Given the description of an element on the screen output the (x, y) to click on. 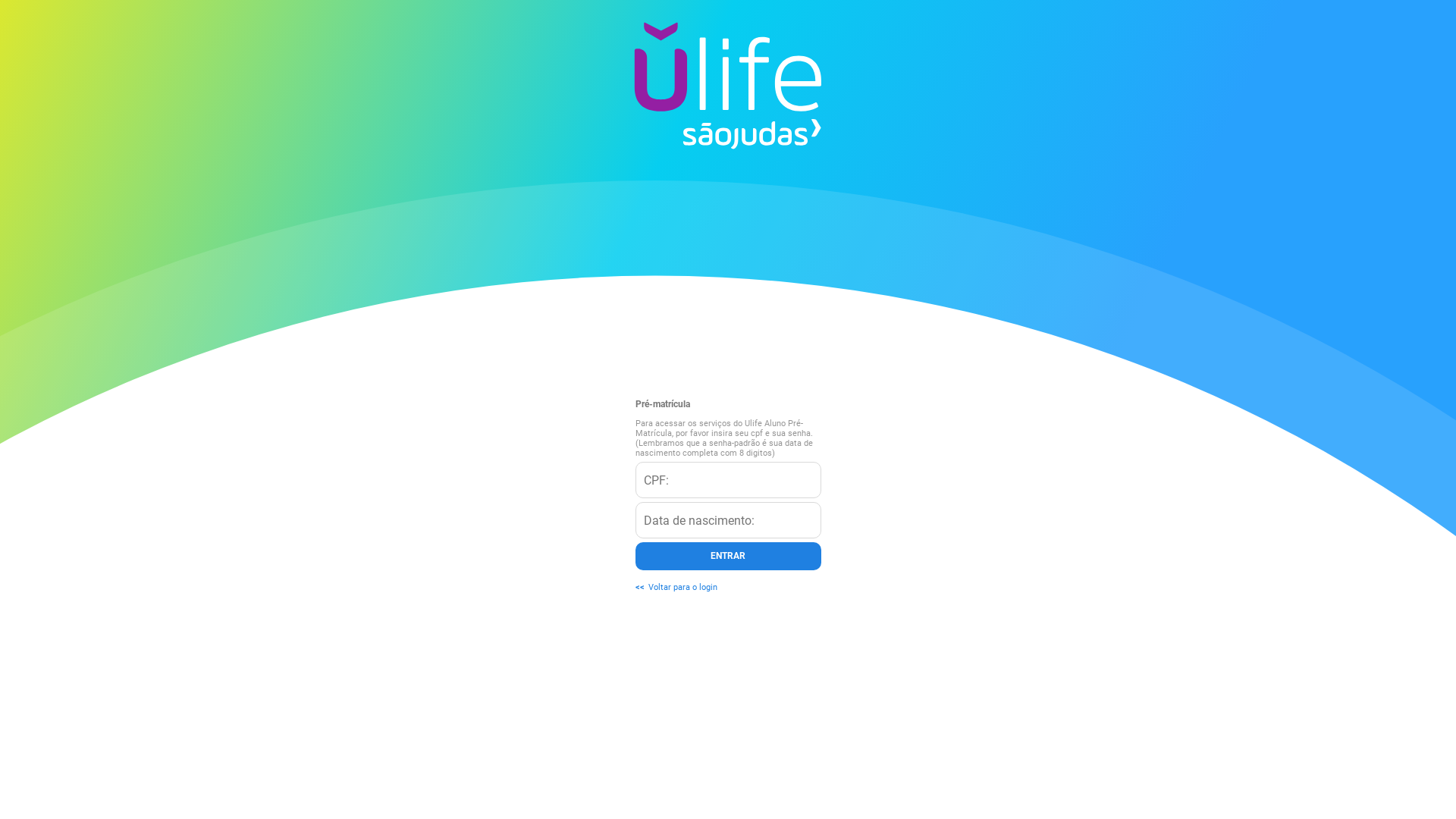
<<Voltar para o login Element type: text (676, 587)
